Given the description of an element on the screen output the (x, y) to click on. 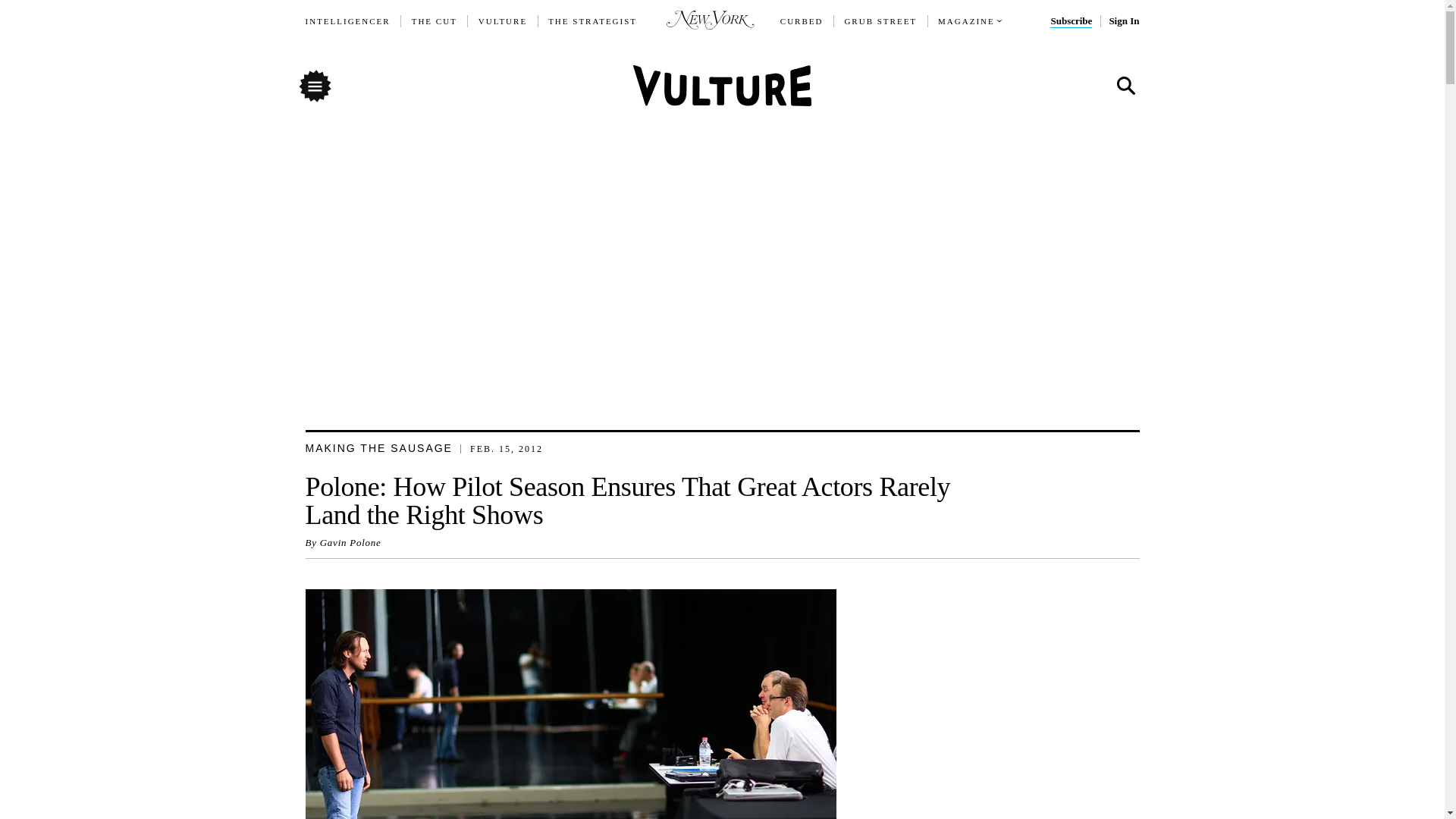
Search (1124, 86)
Sign In (1123, 21)
THE STRATEGIST (592, 21)
THE CUT (434, 21)
GRUB STREET (880, 21)
Menu (314, 84)
Subscribe (1070, 21)
CURBED (802, 21)
VULTURE (503, 21)
INTELLIGENCER (347, 21)
